Given the description of an element on the screen output the (x, y) to click on. 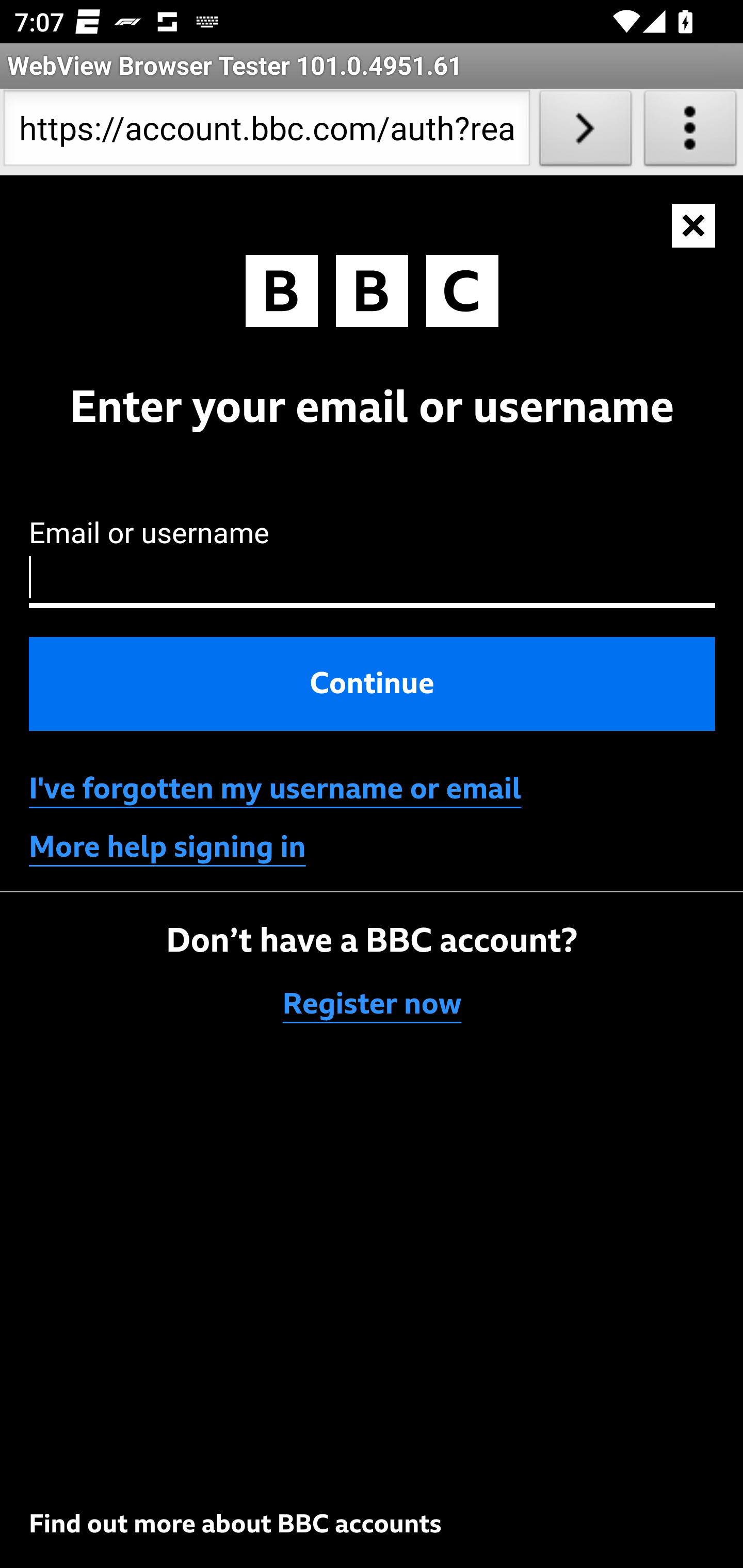
Load URL (585, 132)
About WebView (690, 132)
Close and return to where you originally came from (694, 226)
Go to the BBC Homepage (371, 294)
Continue (372, 682)
I've forgotten my username or email (274, 789)
More help signing in (167, 847)
Register now (372, 1004)
Find out more about BBC accounts (235, 1523)
